Given the description of an element on the screen output the (x, y) to click on. 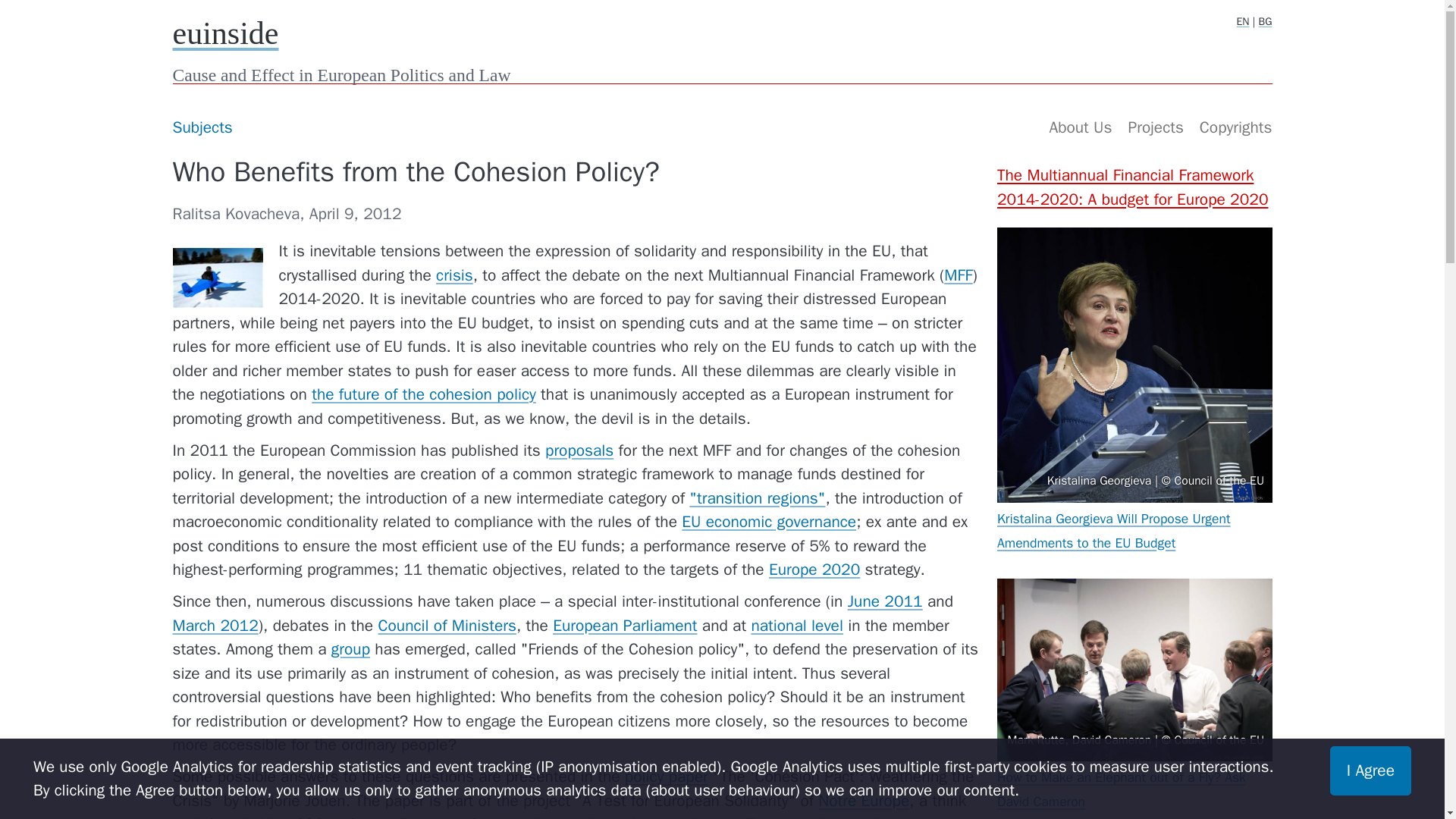
national level (797, 625)
European Parliament (625, 625)
crisis (454, 275)
euinside (226, 32)
policy paper (665, 776)
March 2012 (216, 625)
June 2011 (885, 600)
Europe 2020 (814, 569)
Notre Europe (863, 800)
the future of the cohesion policy (423, 394)
group (350, 649)
MFF (957, 275)
proposals (578, 450)
Subjects (202, 128)
Council of Ministers (446, 625)
